Given the description of an element on the screen output the (x, y) to click on. 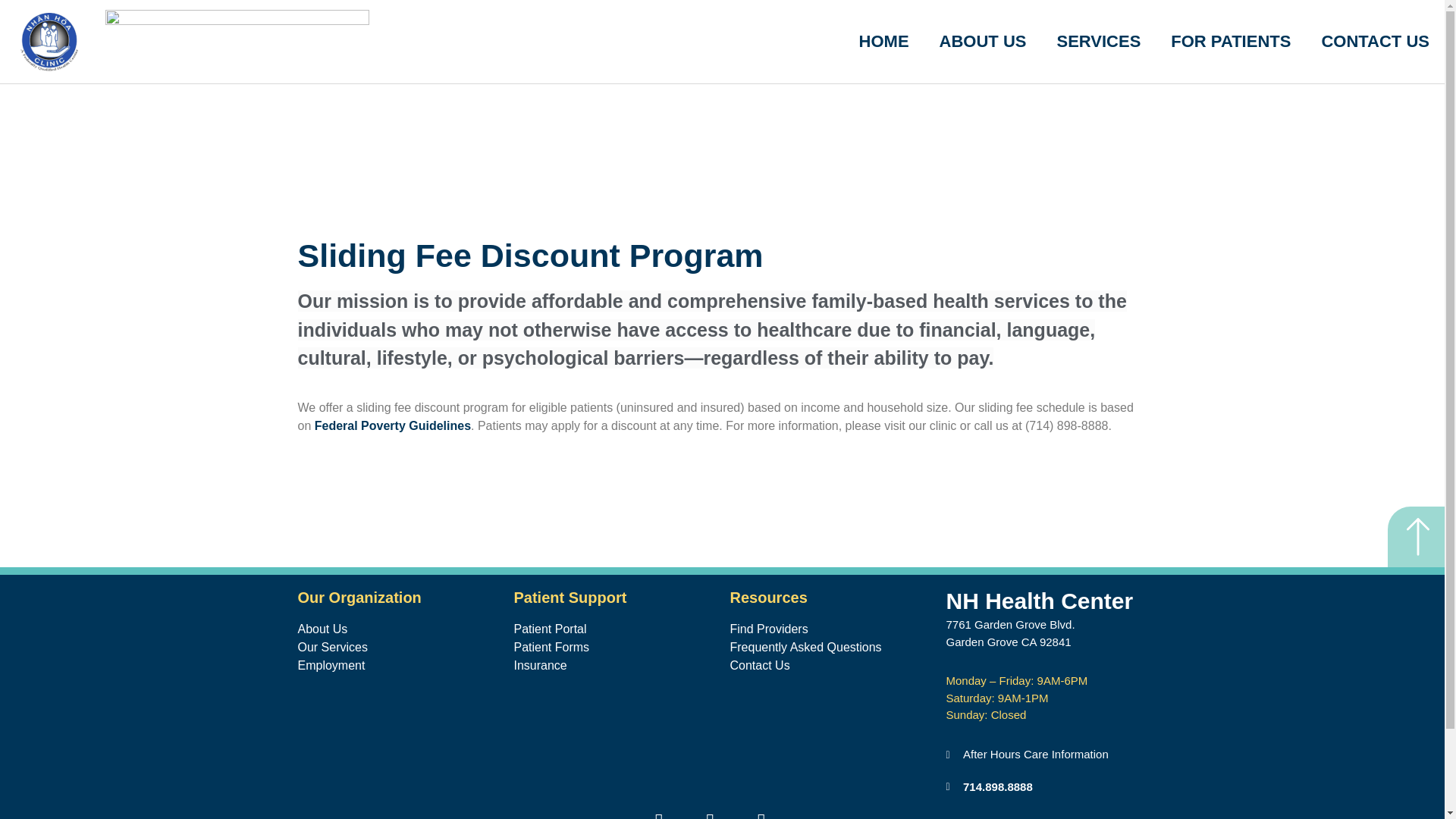
SERVICES (1098, 41)
Patient Portal (613, 628)
FOR PATIENTS (1231, 41)
HOME (884, 41)
Insurance (613, 665)
Contact Us (829, 665)
Employment (397, 665)
ABOUT US (983, 41)
About Us (397, 628)
Our Services (397, 647)
Frequently Asked Questions (829, 647)
Patient Forms (613, 647)
NH Health Center (1040, 600)
Federal Poverty Guidelines (392, 425)
After Hours Care Information (1046, 754)
